Given the description of an element on the screen output the (x, y) to click on. 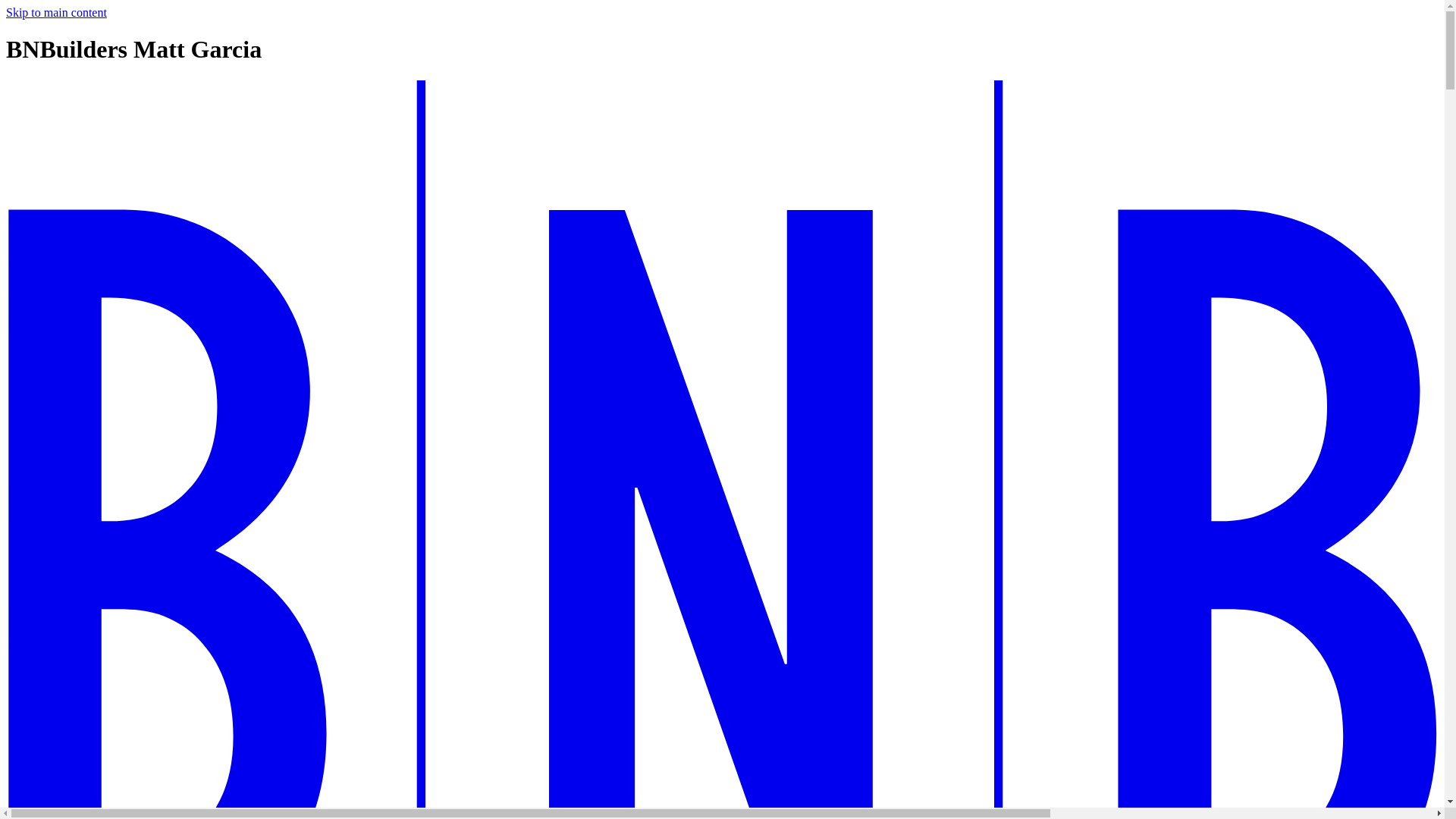
Skip to main content (55, 11)
